Given the description of an element on the screen output the (x, y) to click on. 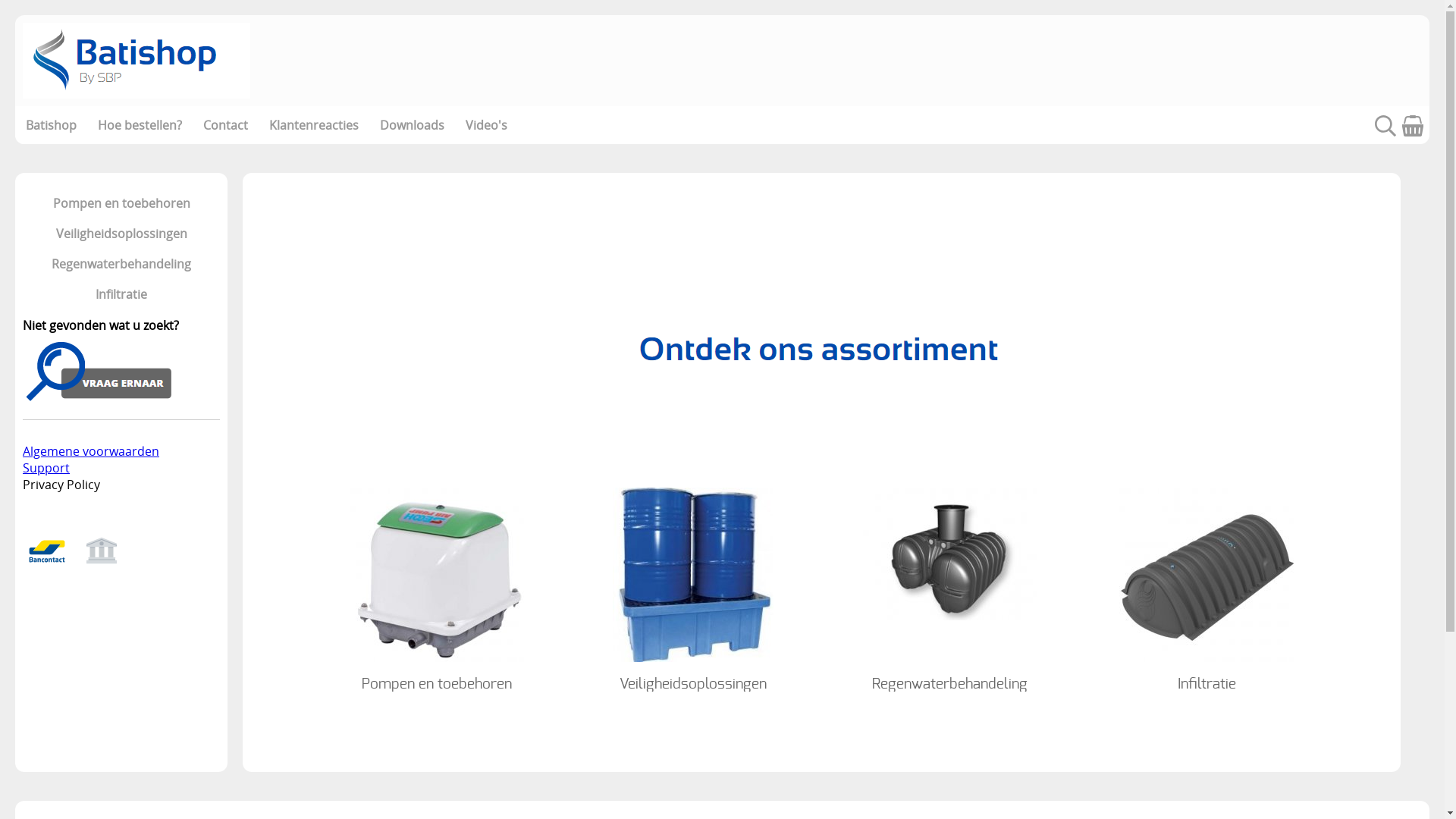
Downloads Element type: text (412, 125)
Algemene voorwaarden Element type: text (90, 450)
Klantenreacties Element type: text (313, 125)
Pompen en toebehoren Element type: text (436, 585)
Veiligheidsoplossingen Element type: text (121, 233)
Support Element type: text (45, 467)
Hoe bestellen? Element type: text (139, 125)
Contact Element type: text (225, 125)
Infiltratie Element type: text (1206, 585)
Veiligheidsoplossingen Element type: text (692, 585)
Infiltratie Element type: text (121, 294)
Zoeken Element type: text (1385, 131)
Video's Element type: text (486, 125)
Regenwaterbehandeling Element type: text (949, 585)
Regenwaterbehandeling Element type: text (121, 263)
Batishop Element type: text (51, 125)
Pompen en toebehoren Element type: text (121, 203)
